Given the description of an element on the screen output the (x, y) to click on. 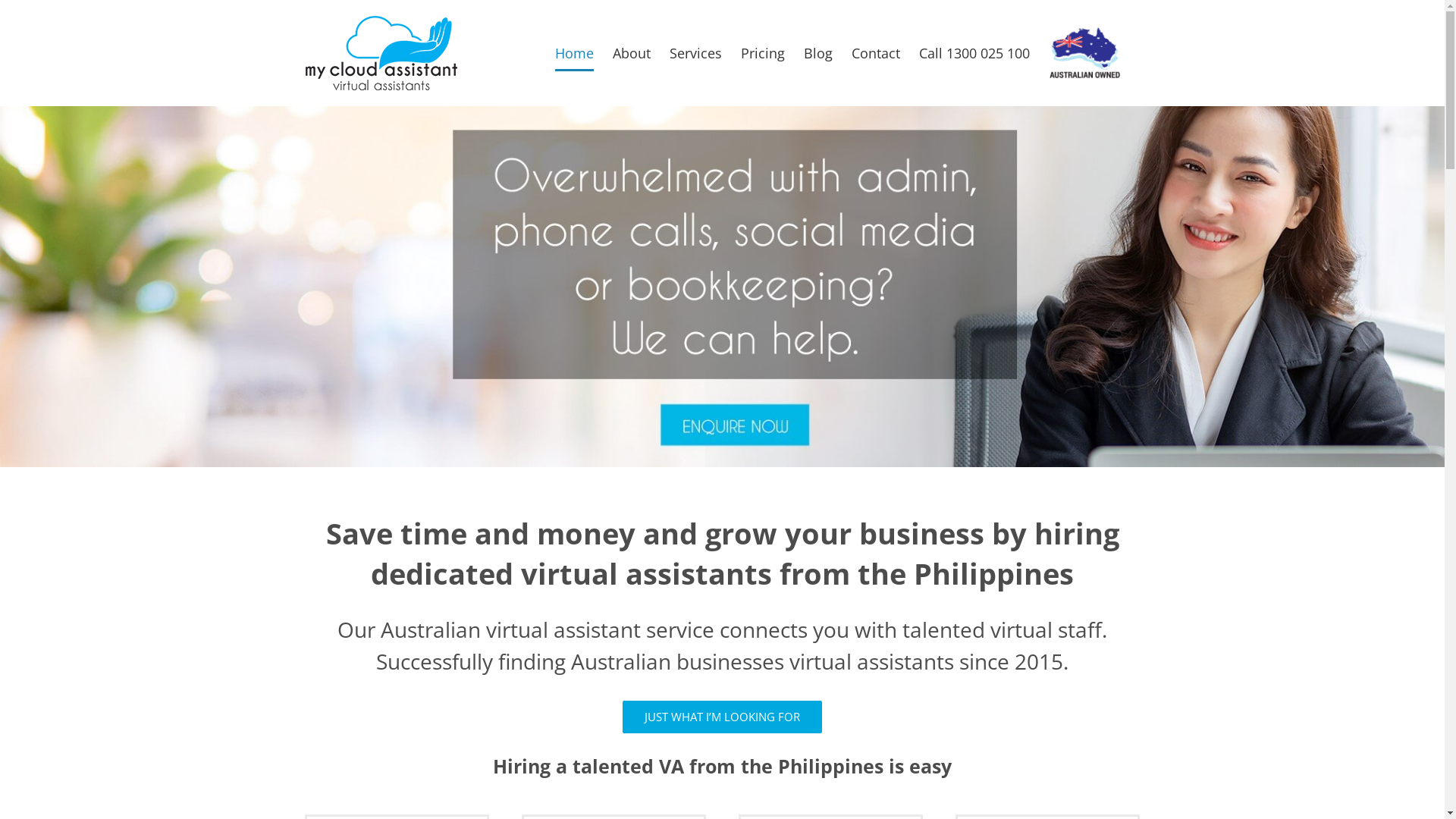
Pricing Element type: text (762, 53)
Home Element type: text (574, 53)
Services Element type: text (694, 53)
Call 1300 025 100 Element type: text (974, 53)
Blog Element type: text (817, 53)
Contact Element type: text (874, 53)
About Element type: text (631, 53)
virtual-assistant Element type: hover (722, 286)
